Given the description of an element on the screen output the (x, y) to click on. 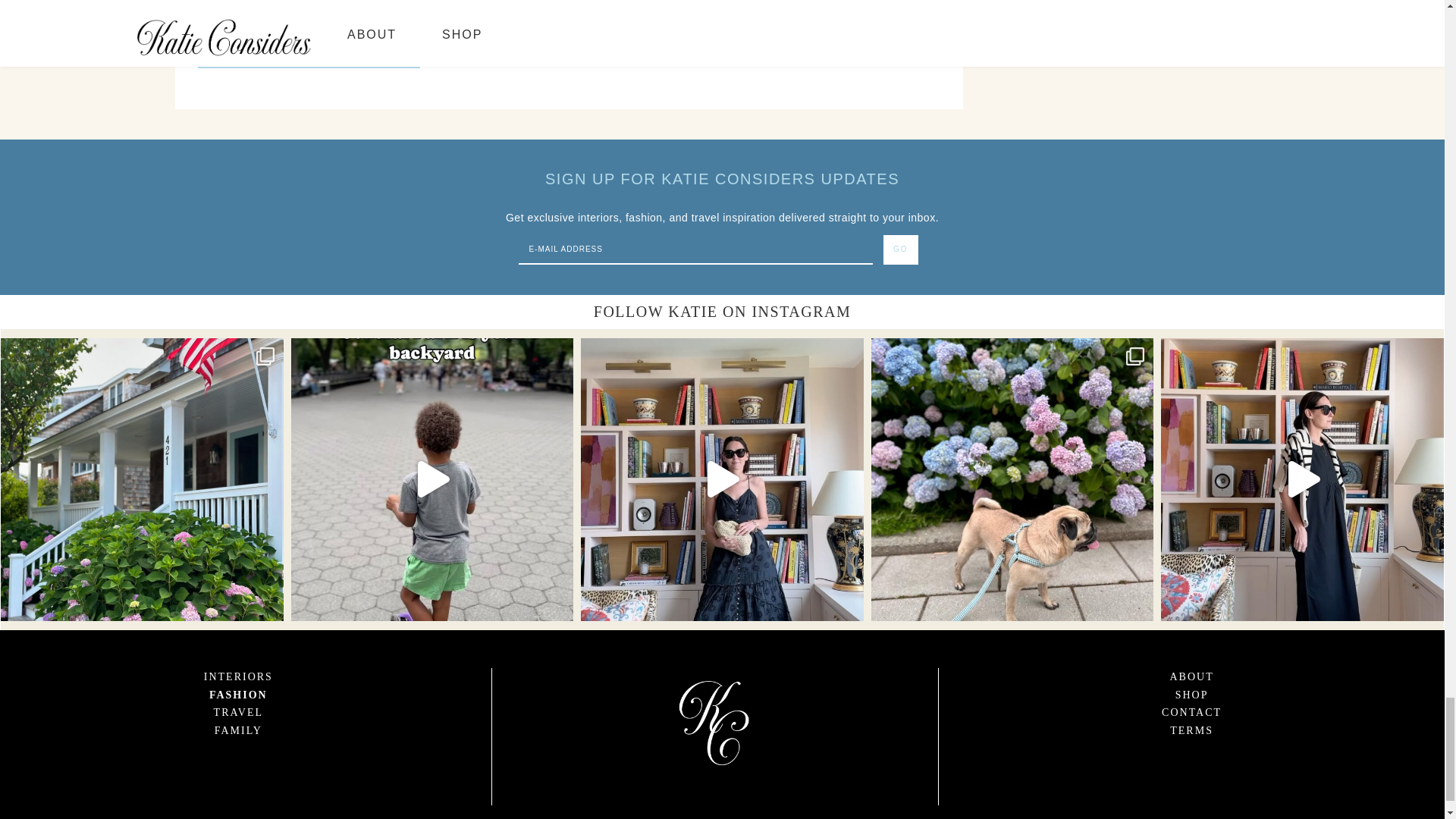
1 (203, 12)
Post Comment (308, 53)
Go (900, 249)
Post Comment (308, 53)
